Given the description of an element on the screen output the (x, y) to click on. 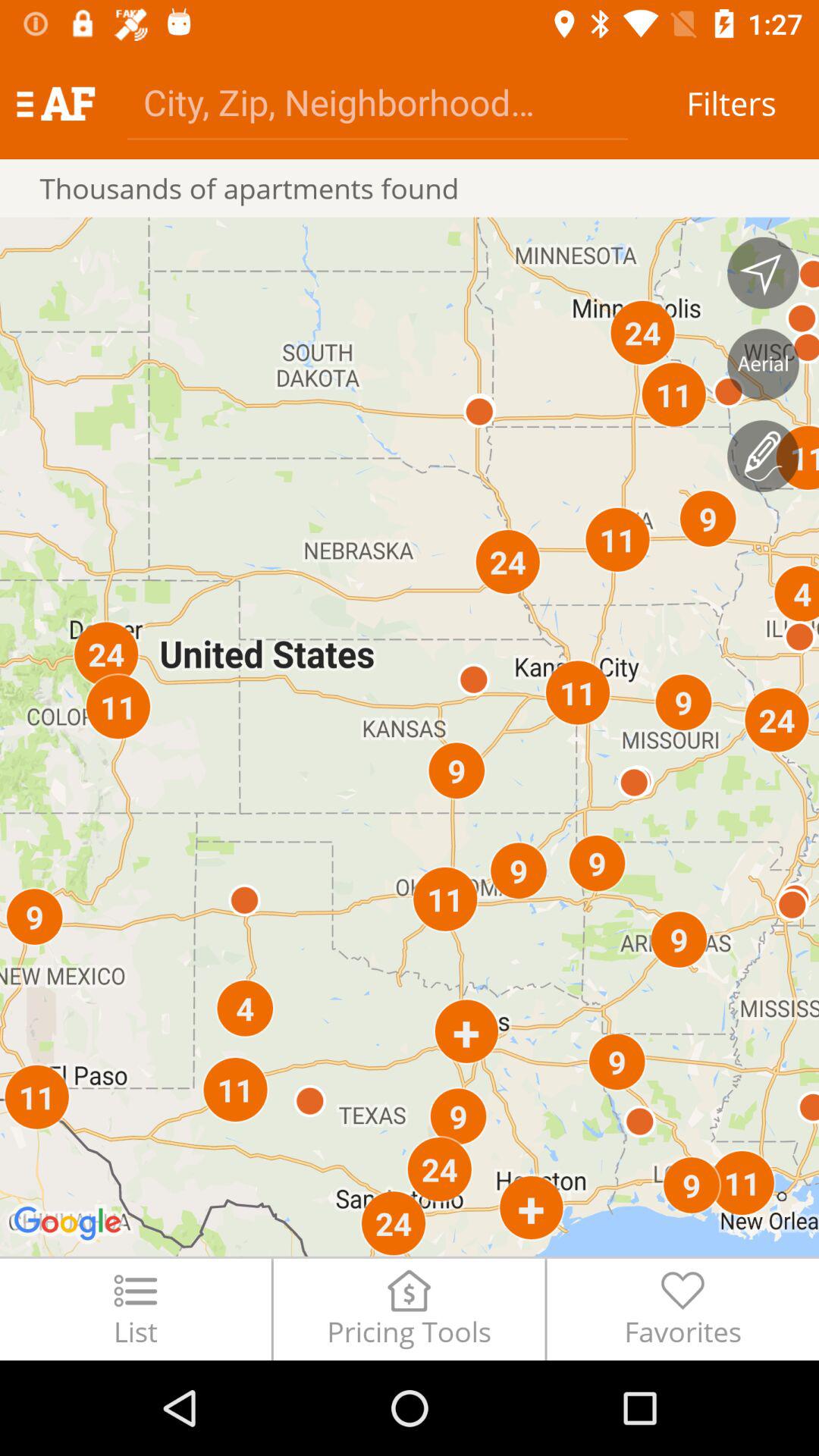
turn off item above thousands of apartments item (377, 102)
